Given the description of an element on the screen output the (x, y) to click on. 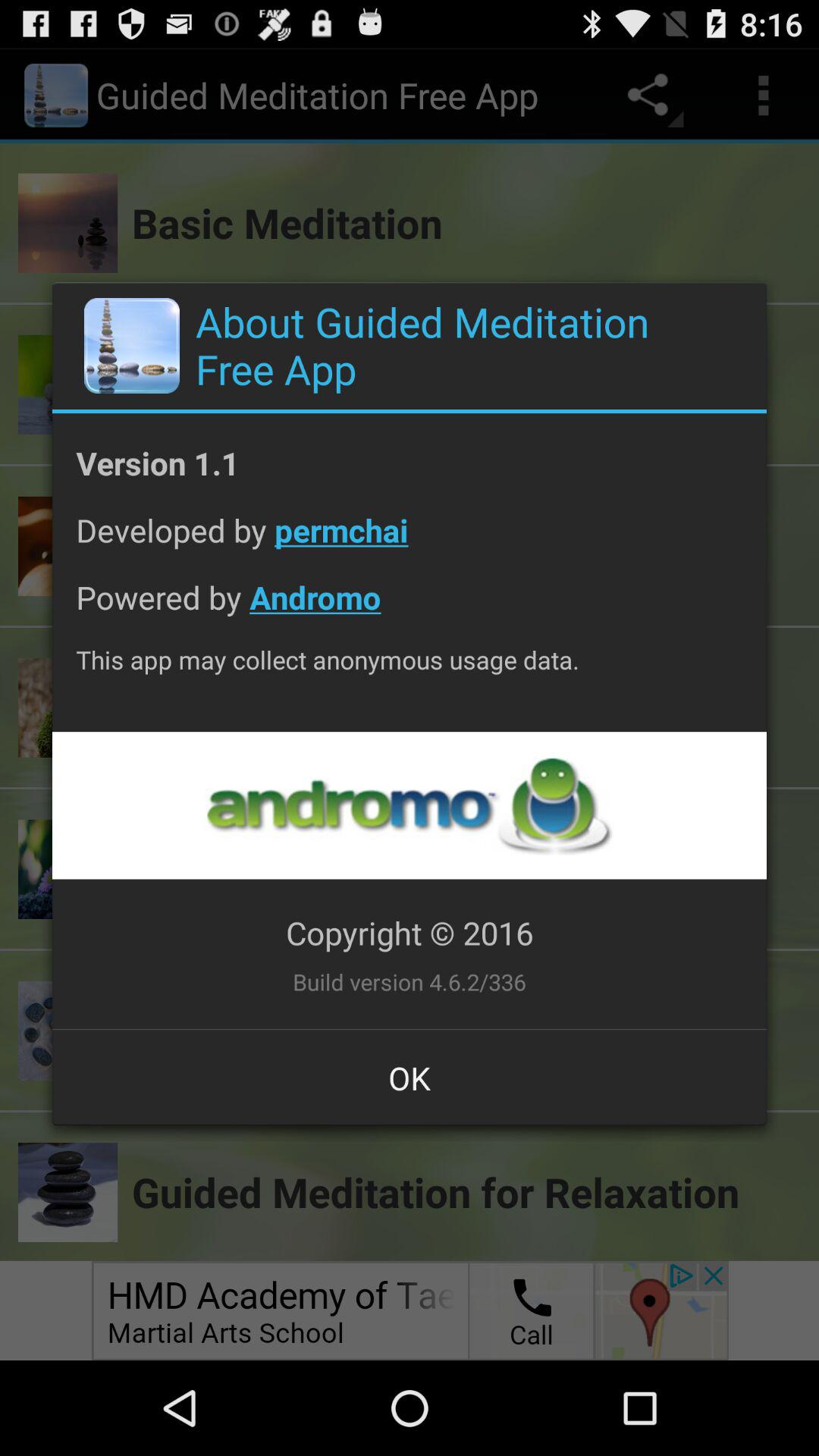
open powered by andromo icon (409, 608)
